Given the description of an element on the screen output the (x, y) to click on. 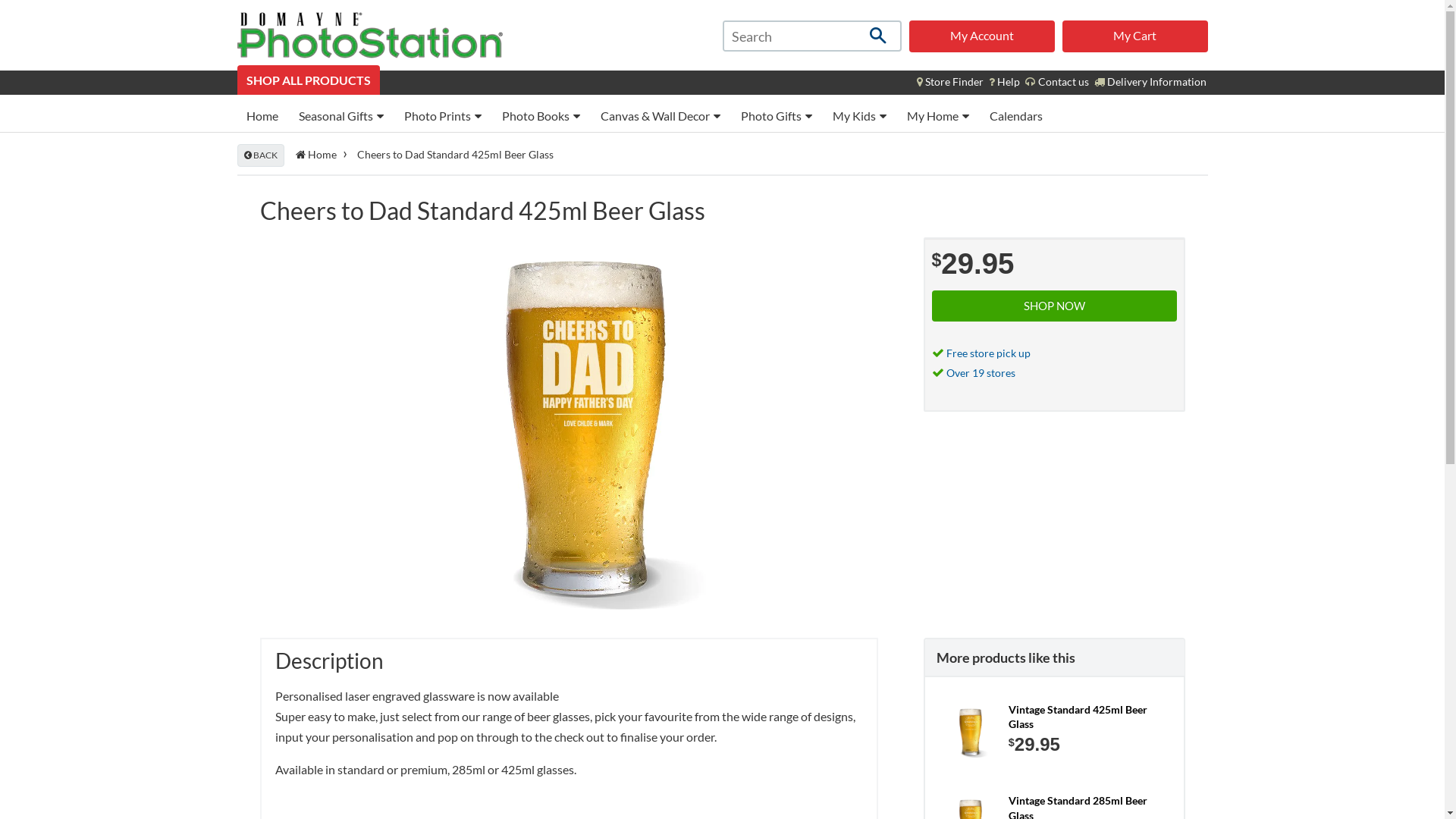
Delivery Information Element type: text (1149, 81)
 Home Element type: text (317, 153)
My Home Element type: text (937, 115)
Calendars Element type: text (1015, 115)
Photo Prints Element type: text (441, 115)
Photo Gifts Element type: text (775, 115)
Home Element type: text (261, 115)
SHOP NOW Element type: text (1053, 306)
Store Finder Element type: text (949, 81)
Over 19 stores Element type: text (980, 372)
Free store pick up Element type: text (988, 352)
My Account Element type: text (981, 36)
BACK Element type: text (259, 155)
My Kids Element type: text (859, 115)
Photo Books Element type: text (540, 115)
Search Element type: text (877, 35)
Seasonal Gifts Element type: text (340, 115)
Vintage Standard 425ml Beer Glass Element type: text (1084, 716)
Contact us Element type: text (1056, 81)
Canvas & Wall Decor Element type: text (660, 115)
Help Element type: text (1004, 81)
My Cart Element type: text (1134, 36)
SHOP ALL PRODUCTS Element type: text (307, 79)
